Given the description of an element on the screen output the (x, y) to click on. 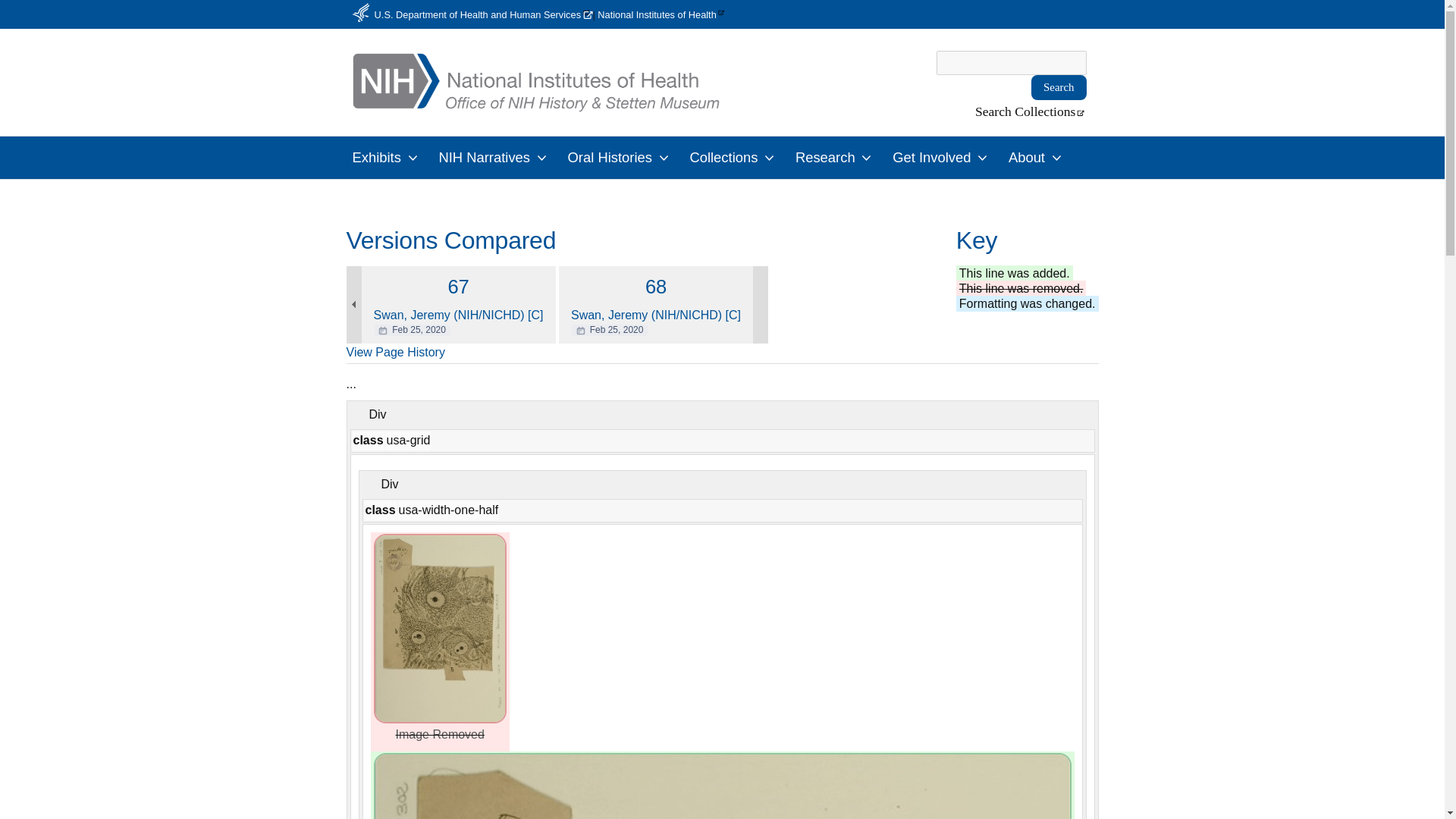
View Page History (395, 352)
National Institutes of Health (660, 14)
Get Involved (942, 157)
Oral Histories (620, 157)
Research (836, 157)
  U.S. Department of Health and Human Services (478, 14)
NIH Narratives (494, 157)
The Office of NIH History and Stetten Museum Home (457, 286)
Search (535, 102)
